Given the description of an element on the screen output the (x, y) to click on. 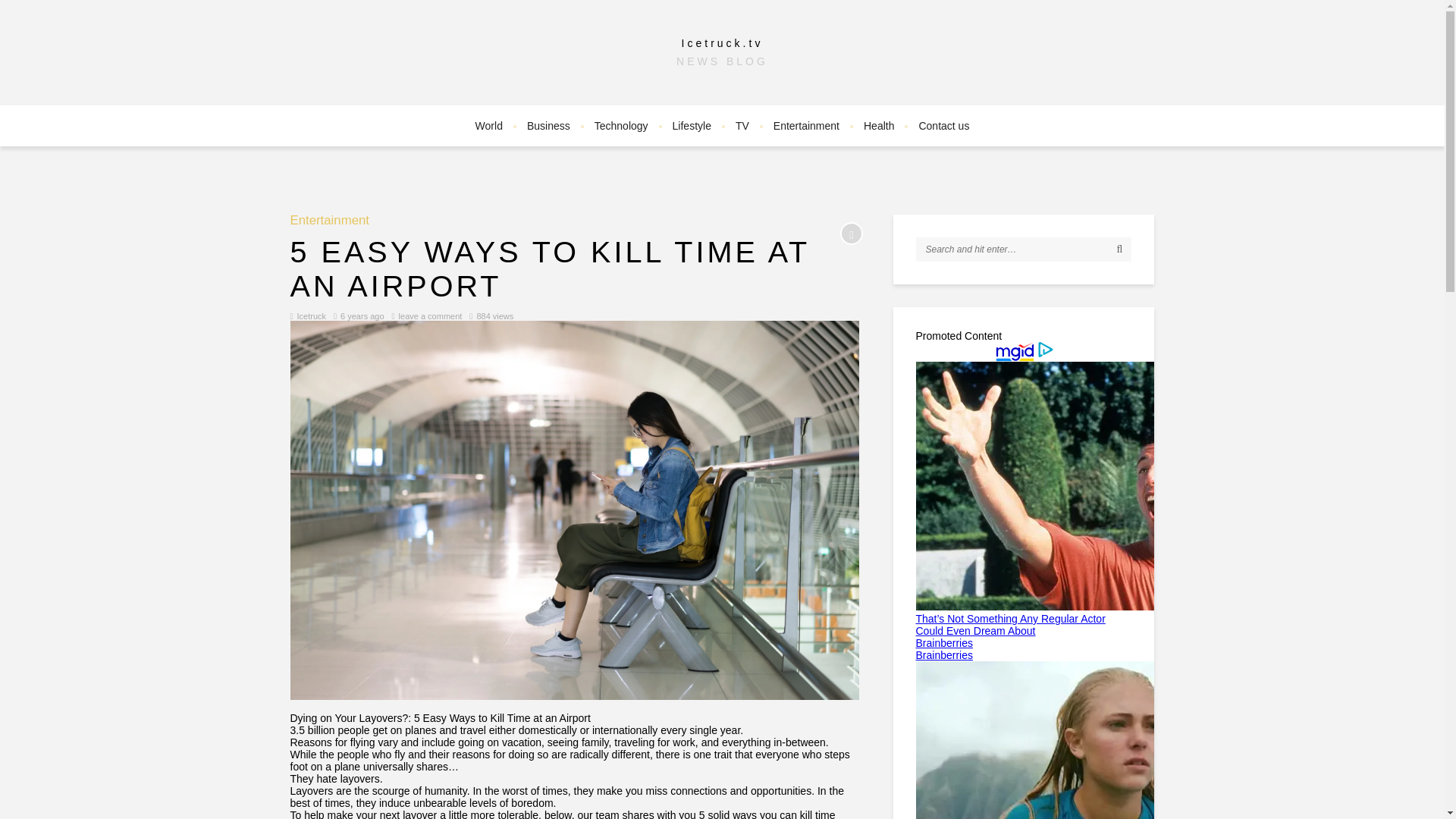
World (488, 125)
Entertainment (806, 125)
Entertainment (328, 220)
Entertainment (328, 220)
Health (878, 125)
Lifestyle (692, 125)
Icetruck.tv (721, 42)
TV (742, 125)
Contact us (943, 125)
Technology (621, 125)
leave a comment (430, 316)
Icetruck (311, 316)
Business (548, 125)
